Given the description of an element on the screen output the (x, y) to click on. 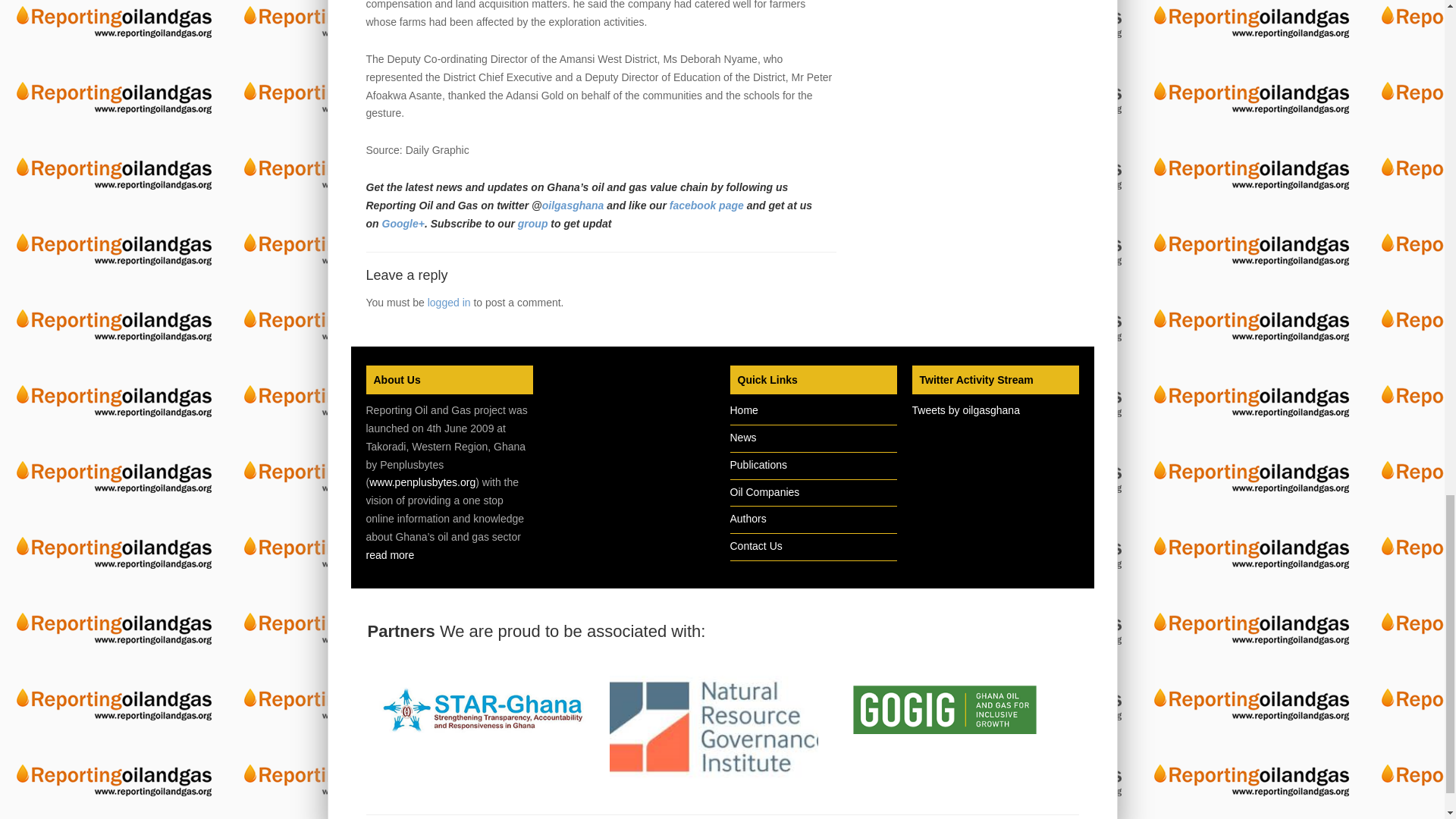
facebook page  (707, 205)
oilgasghana (572, 205)
group  (534, 223)
